Given the description of an element on the screen output the (x, y) to click on. 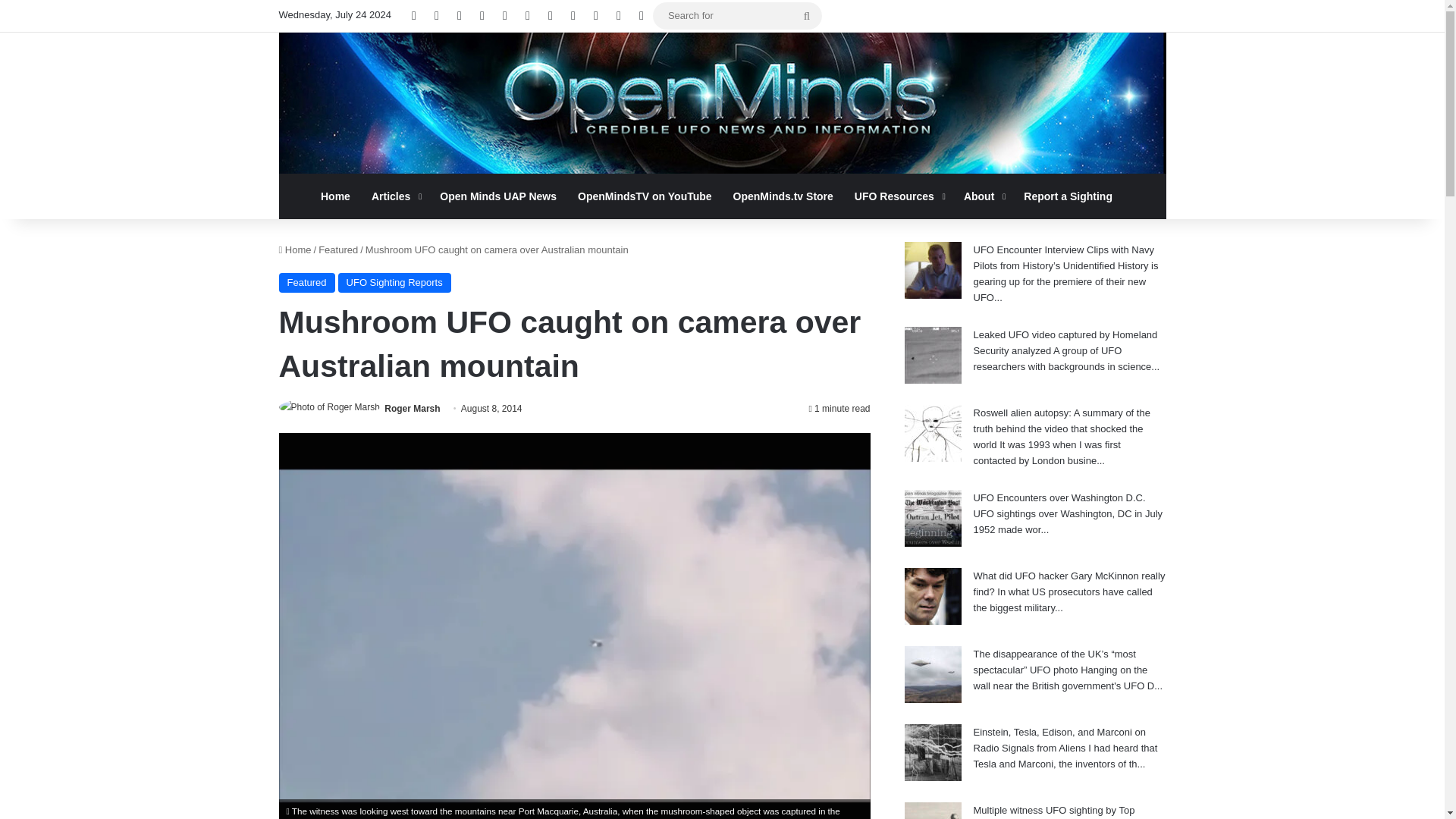
UFO Resources (898, 196)
Home (335, 196)
About (983, 196)
Search for (807, 15)
Search for (737, 15)
Articles (395, 196)
Openminds.tv (722, 102)
Open Minds UAP News (498, 196)
OpenMindsTV on YouTube (644, 196)
OpenMinds.tv Store (783, 196)
Roger Marsh (411, 408)
